Given the description of an element on the screen output the (x, y) to click on. 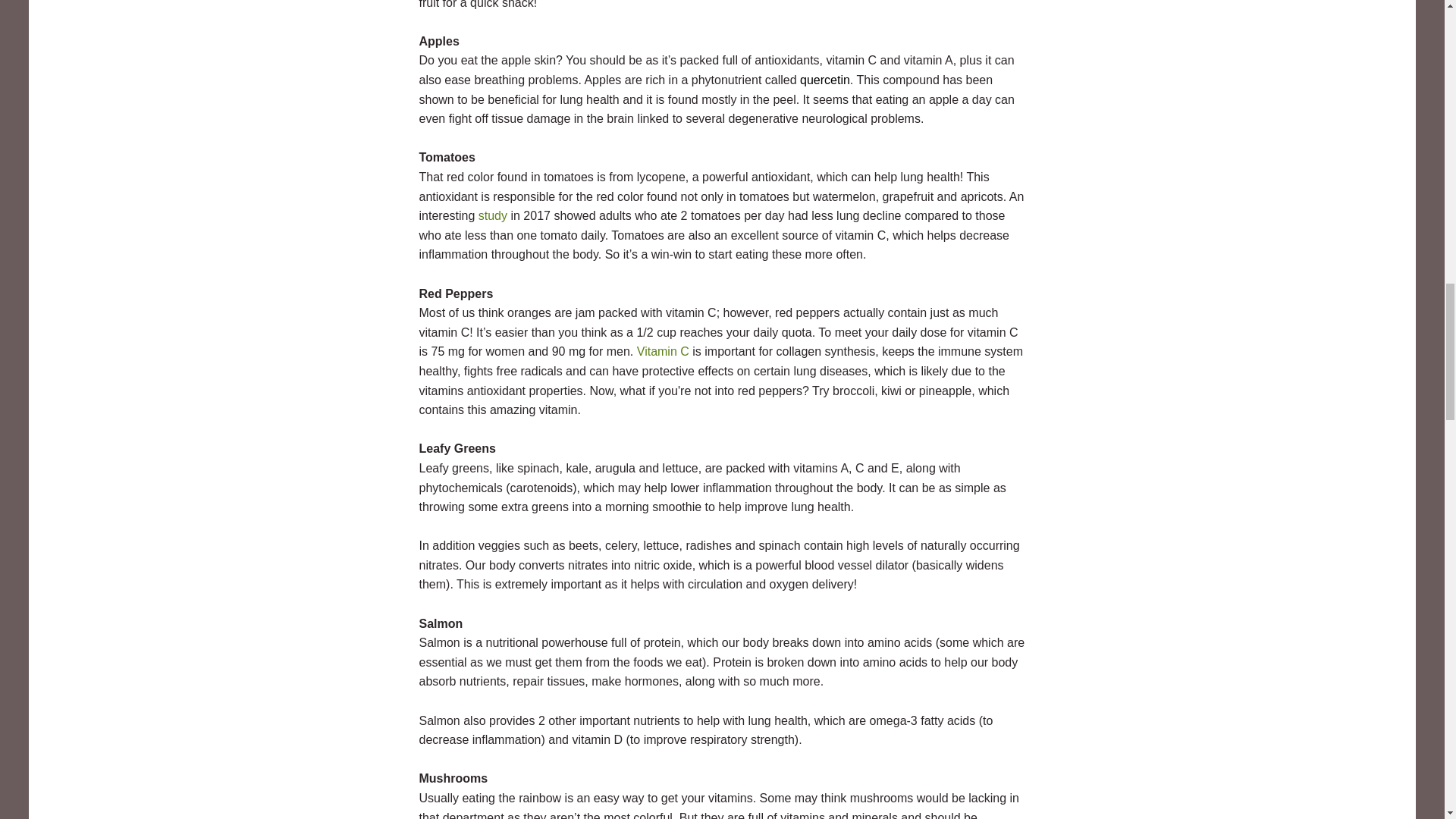
quercetin (824, 79)
Tomatoes, lung health  (492, 215)
Vitamin C (662, 350)
apple skin, lung health (824, 79)
vitamin c, lung health (662, 350)
study (492, 215)
